Given the description of an element on the screen output the (x, y) to click on. 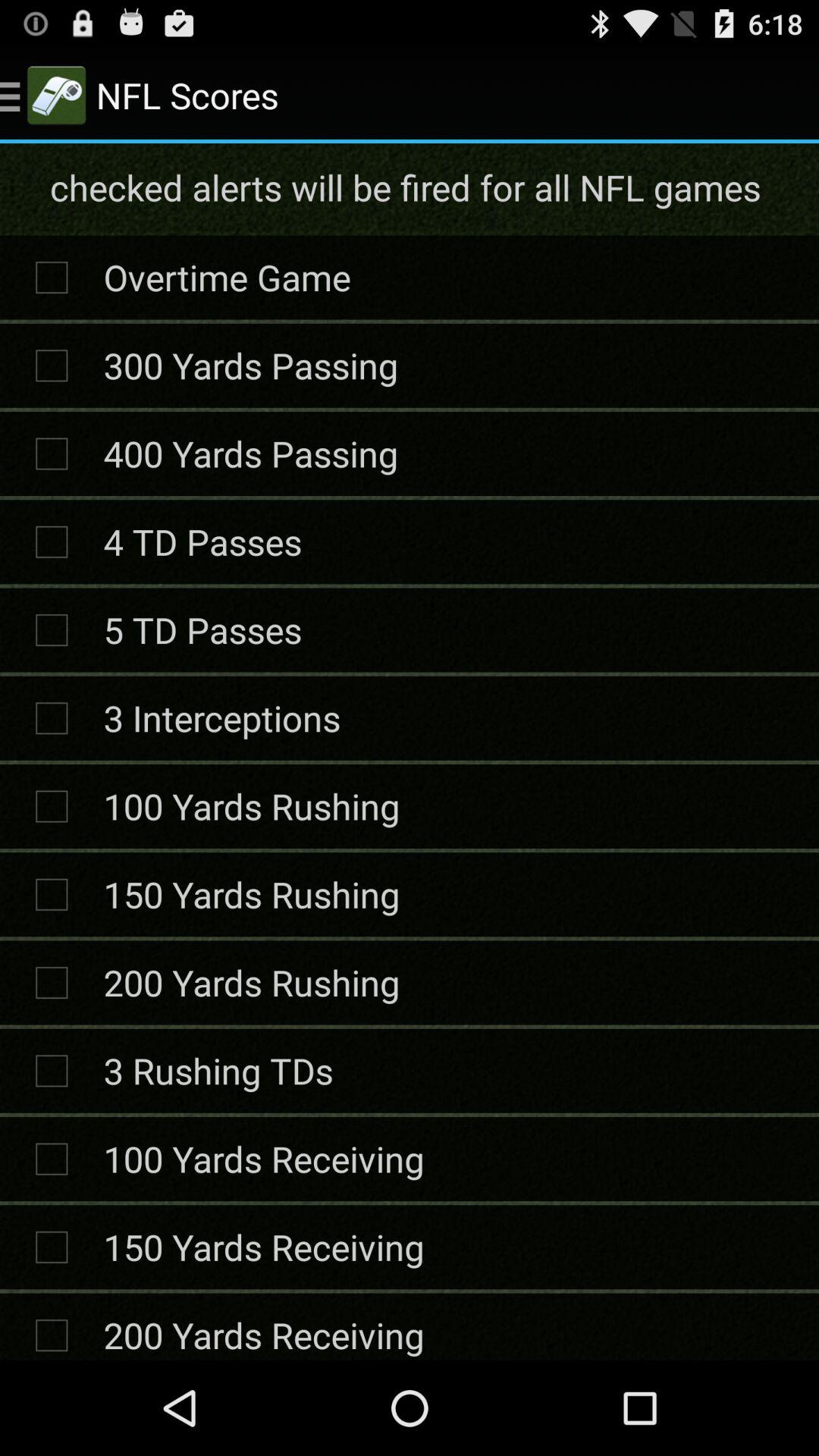
click checked alerts will at the top (408, 187)
